Given the description of an element on the screen output the (x, y) to click on. 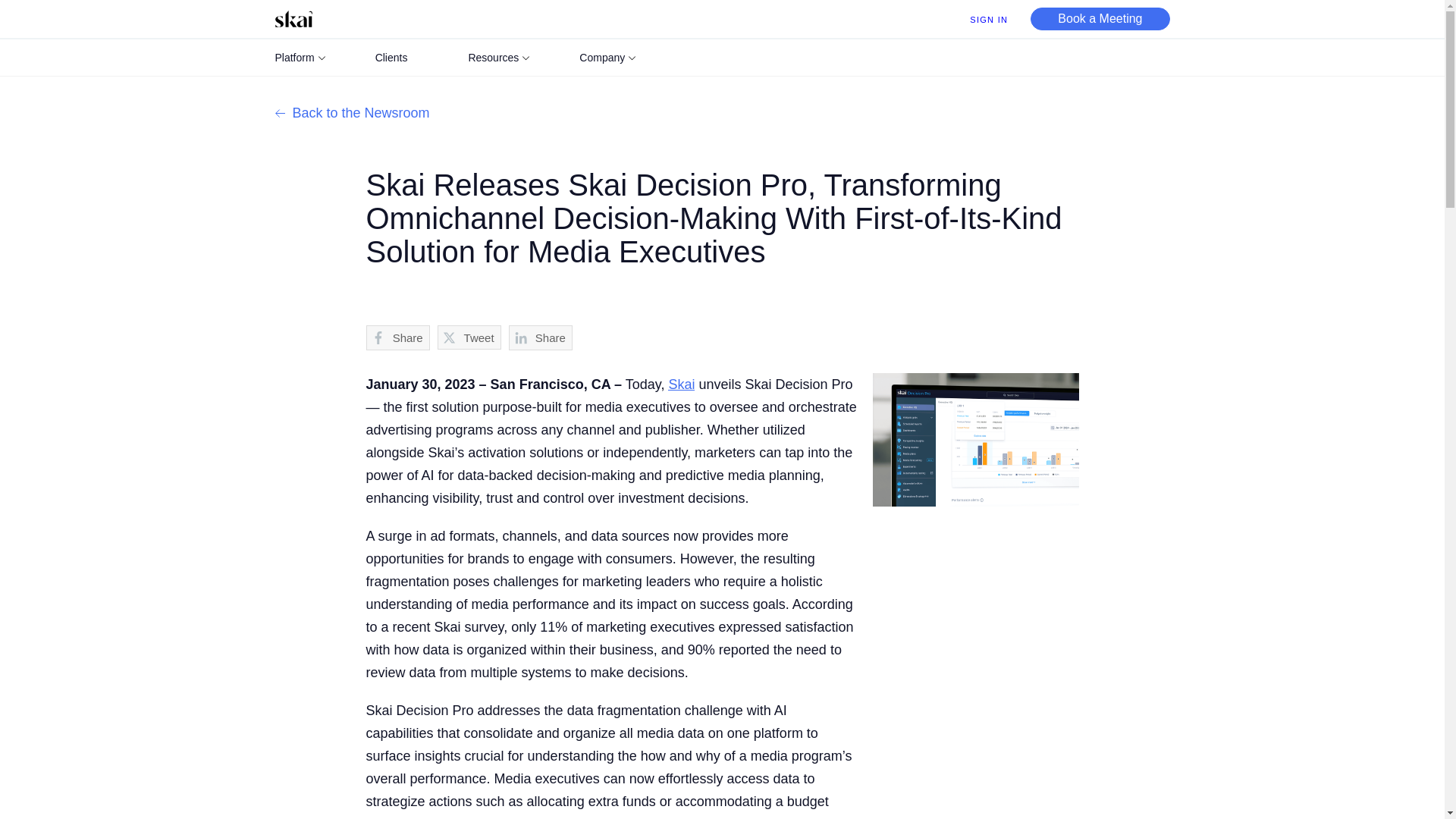
Share (397, 337)
SIGN IN (988, 19)
Share (540, 337)
Tweet (469, 337)
Back to the Newsroom (352, 112)
Skai (681, 384)
Book a Meeting (1099, 18)
